Given the description of an element on the screen output the (x, y) to click on. 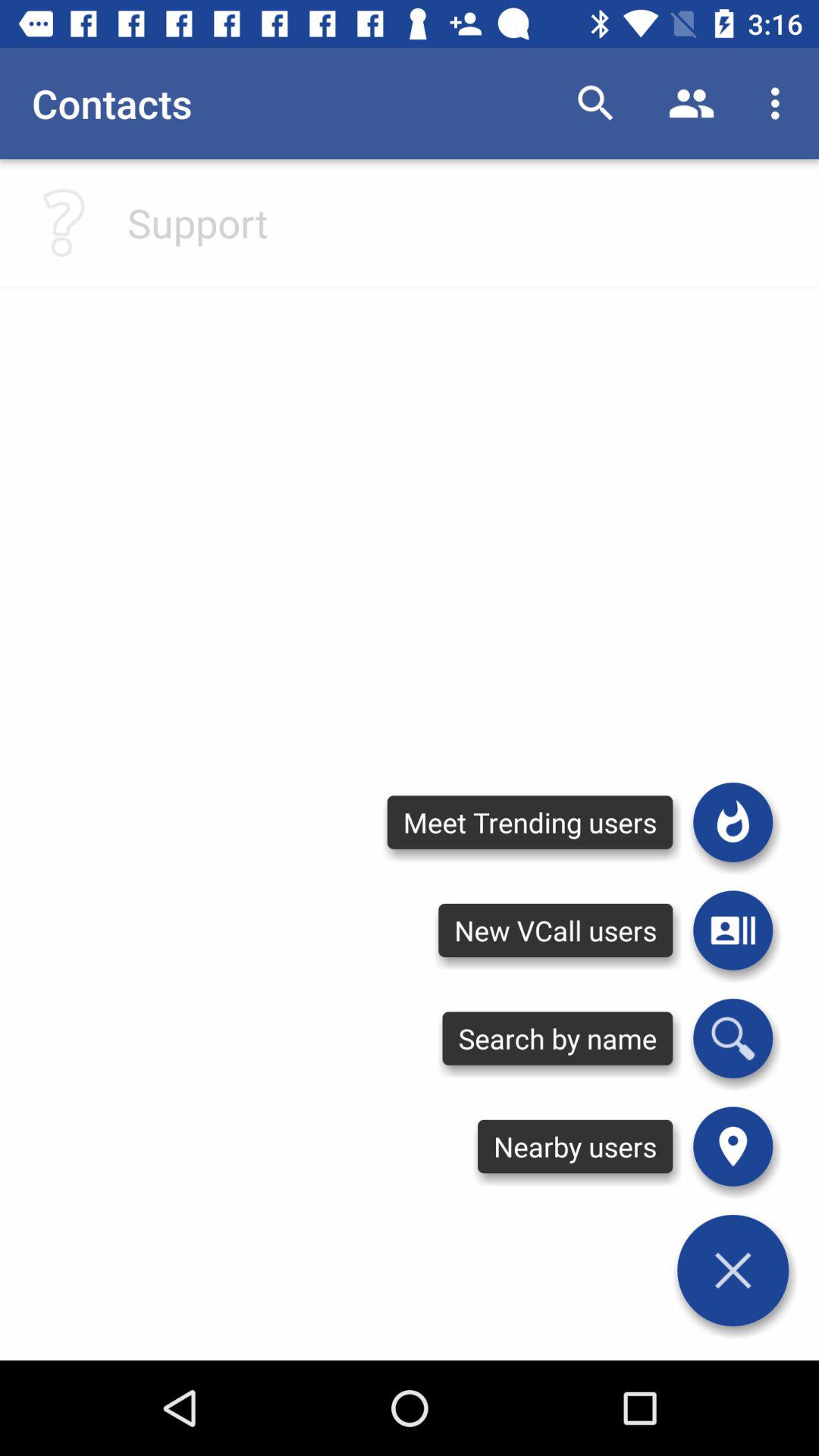
turn on nearby users item (575, 1146)
